Given the description of an element on the screen output the (x, y) to click on. 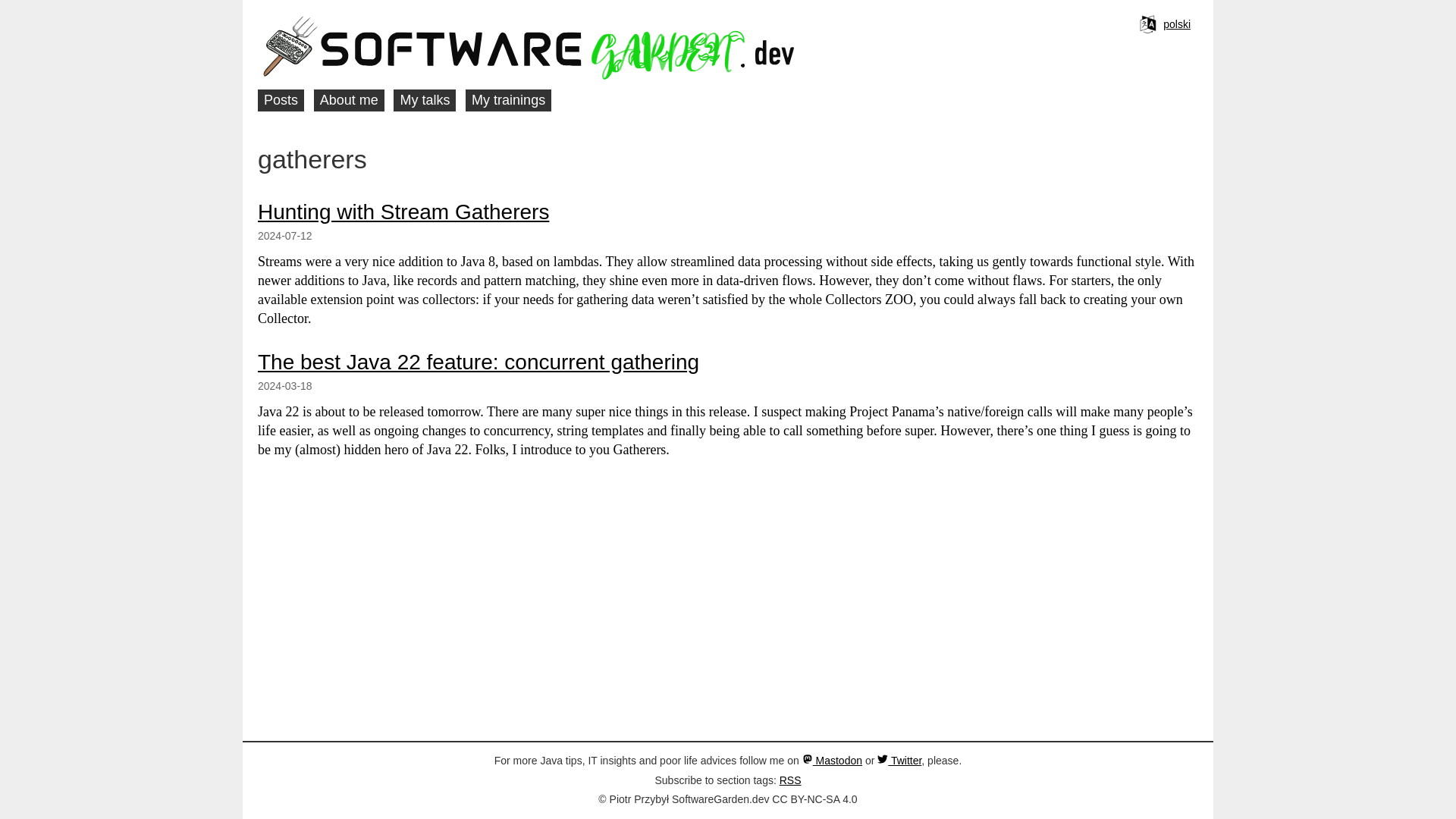
Hunting with Stream Gatherers (402, 211)
The best Java 22 feature: concurrent gathering (477, 361)
About me (349, 100)
Twitter (899, 760)
polski (1177, 24)
Mastodon (831, 760)
RSS (790, 779)
SoftwareGarden.dev (576, 47)
My talks (424, 100)
Posts (280, 100)
